Given the description of an element on the screen output the (x, y) to click on. 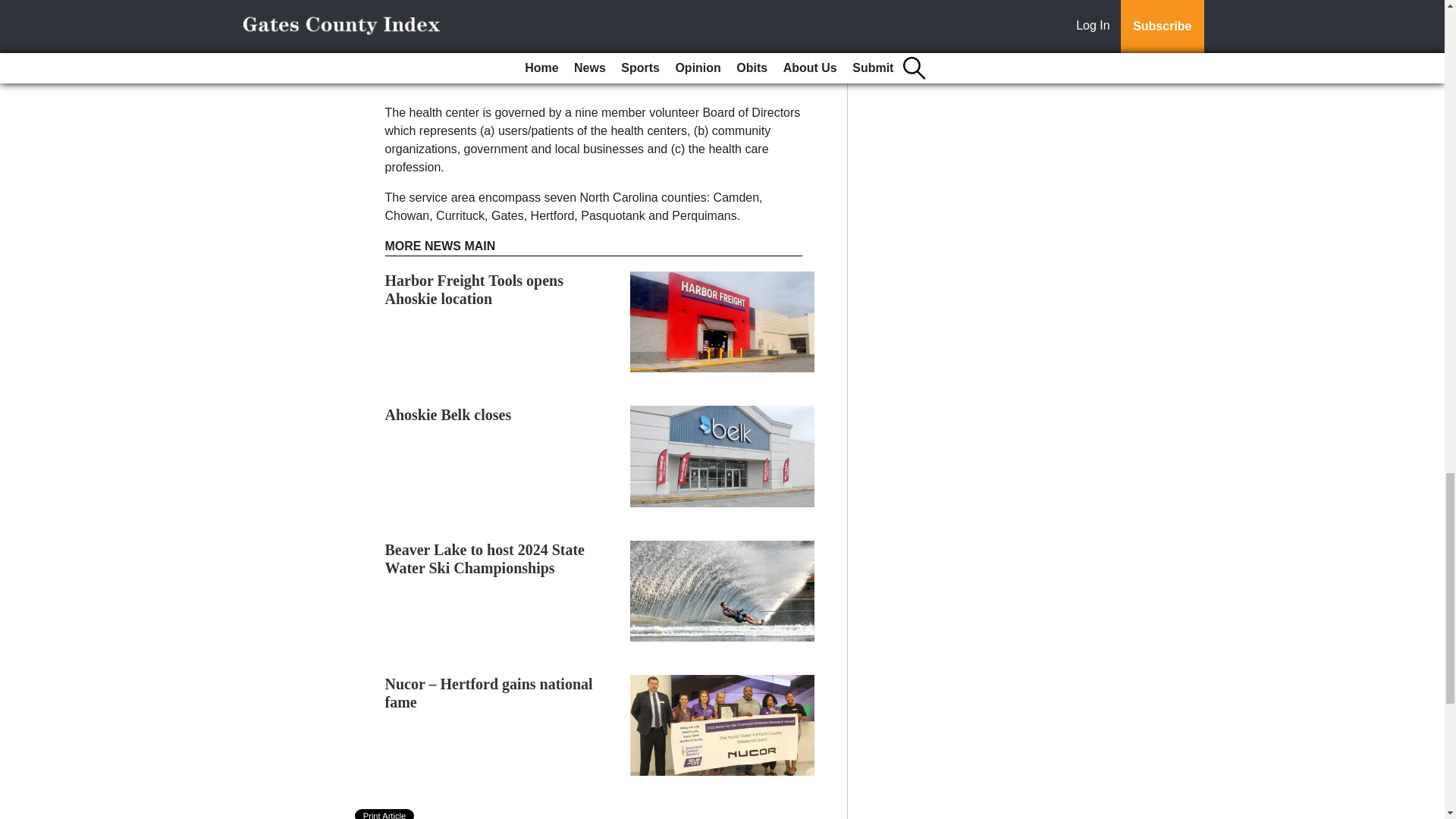
Print Article (384, 814)
Harbor Freight Tools opens Ahoskie location (474, 289)
Harbor Freight Tools opens Ahoskie location (474, 289)
Beaver Lake to host 2024 State Water Ski Championships (485, 558)
Beaver Lake to host 2024 State Water Ski Championships (485, 558)
Ahoskie Belk closes (448, 414)
Ahoskie Belk closes (448, 414)
